Given the description of an element on the screen output the (x, y) to click on. 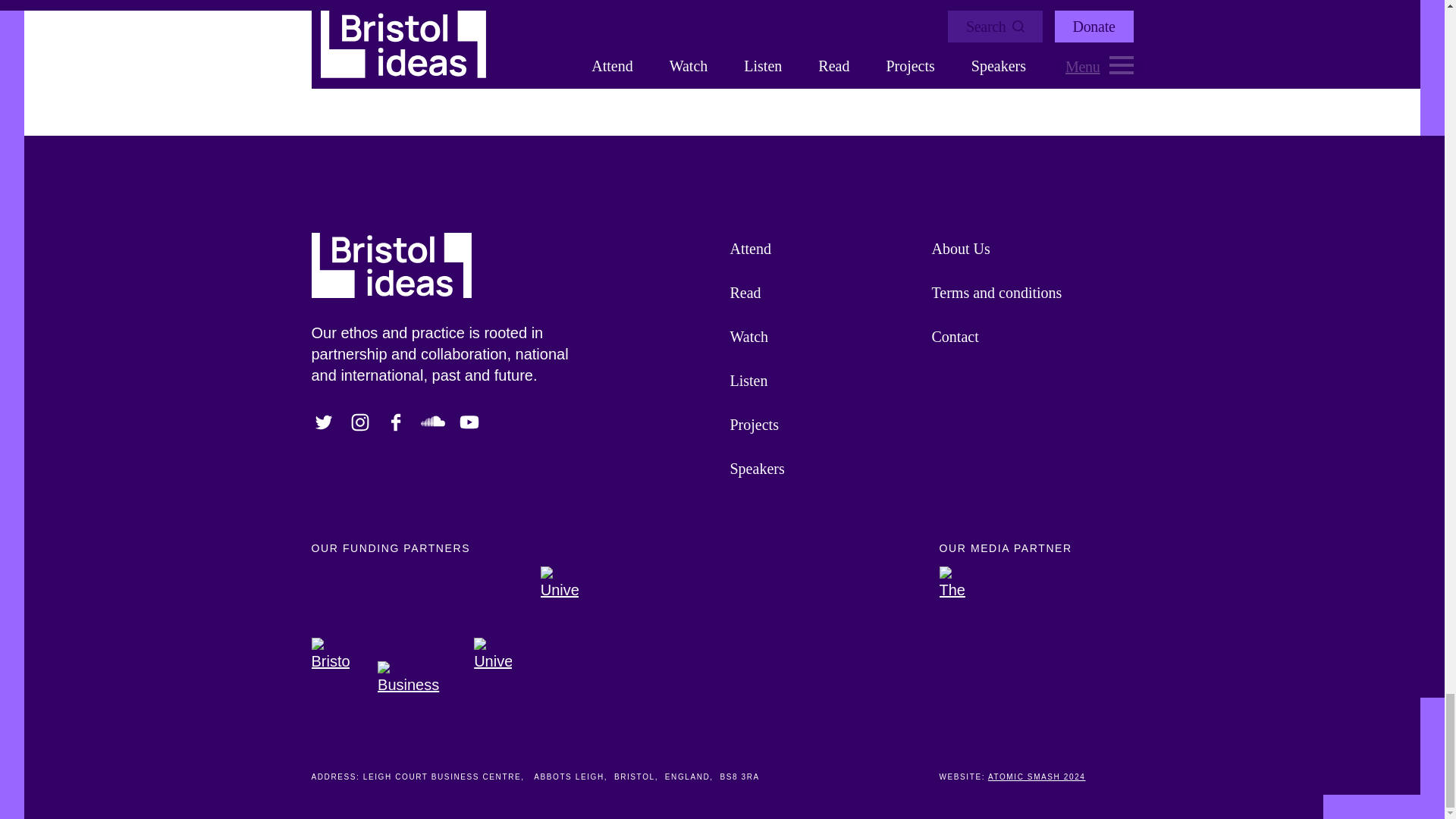
About Us (1024, 248)
Attend (822, 248)
Watch (822, 336)
Contact (1024, 336)
Speakers (822, 468)
Read (822, 292)
Projects (822, 424)
Terms and conditions (1024, 292)
Listen (822, 380)
